Given the description of an element on the screen output the (x, y) to click on. 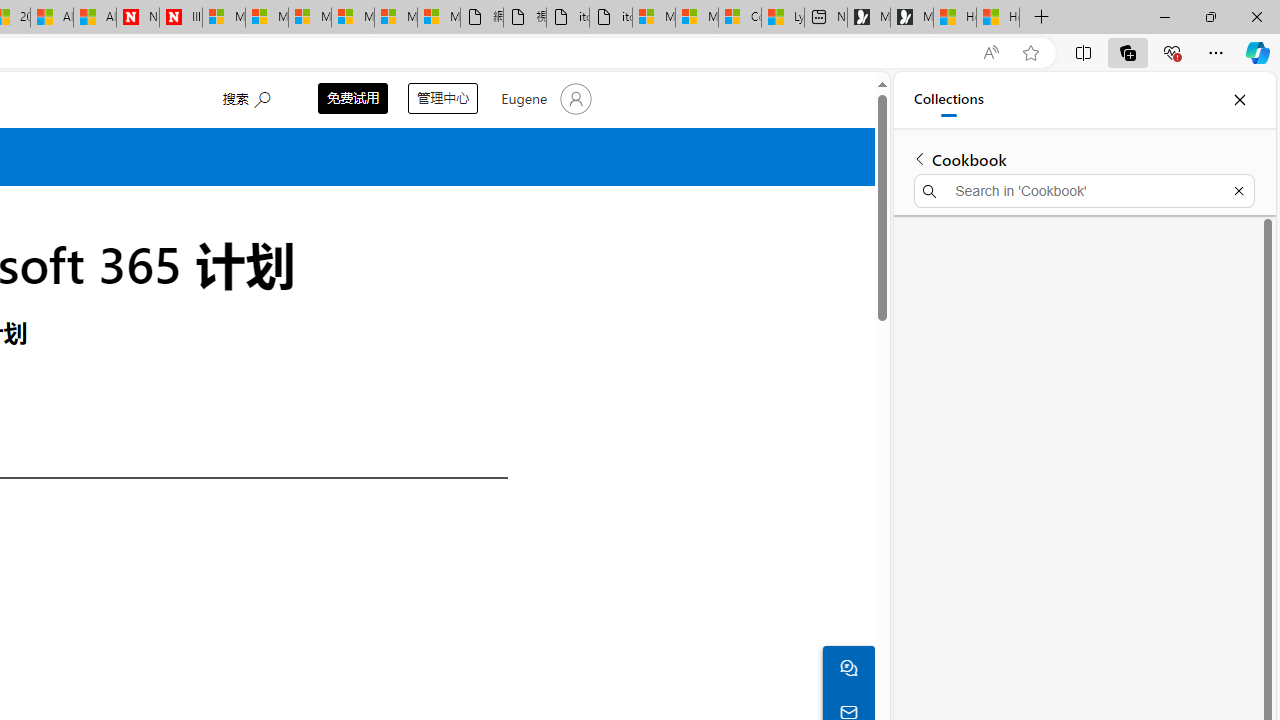
Newsweek - News, Analysis, Politics, Business, Technology (137, 17)
Illness news & latest pictures from Newsweek.com (181, 17)
Consumer Health Data Privacy Policy (740, 17)
How to Use a TV as a Computer Monitor (997, 17)
